Given the description of an element on the screen output the (x, y) to click on. 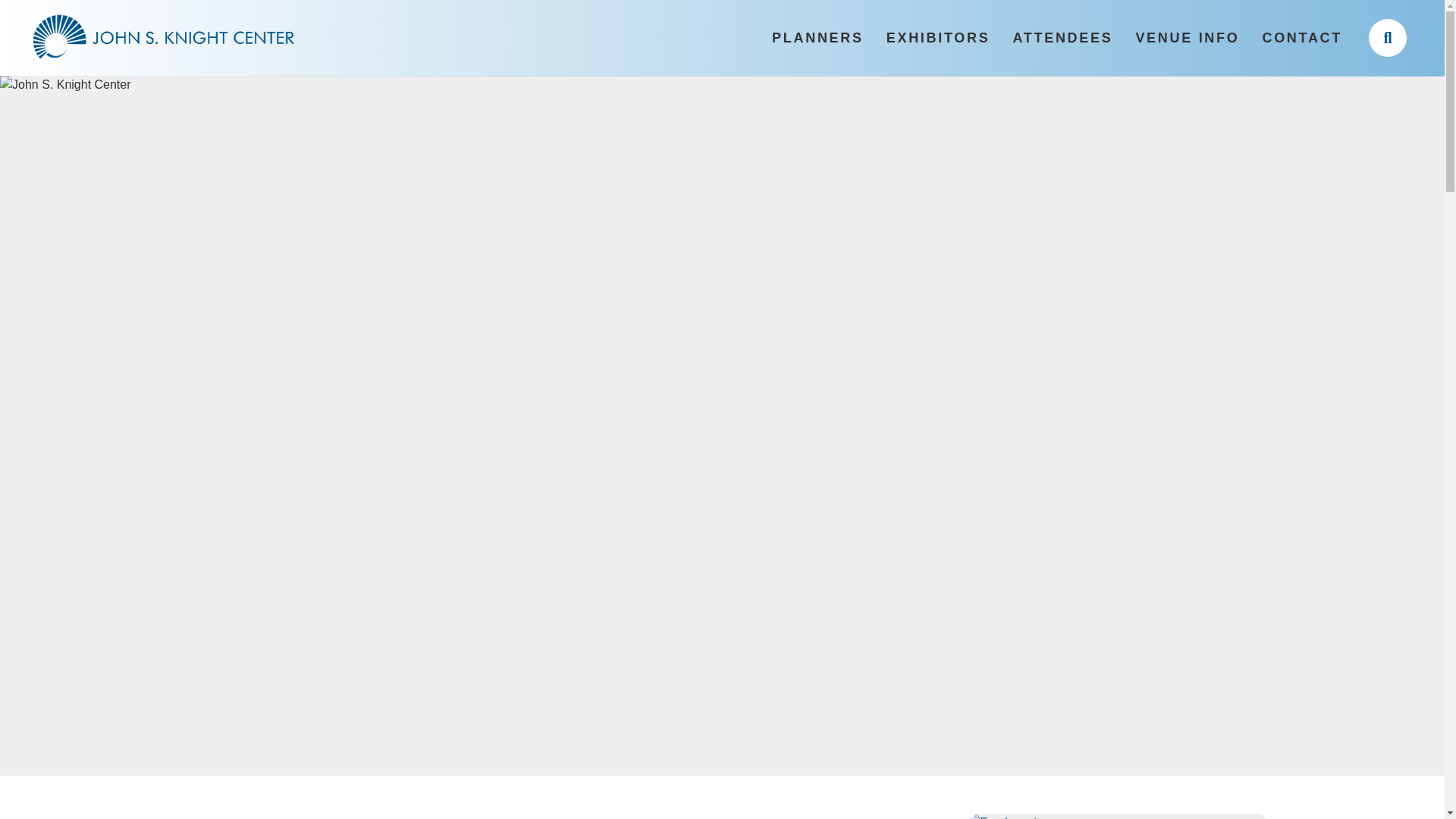
CONTACT (1302, 38)
EXHIBITORS (938, 38)
VENUE INFO (1187, 38)
PLANNERS (817, 38)
ATTENDEES (1062, 38)
